Given the description of an element on the screen output the (x, y) to click on. 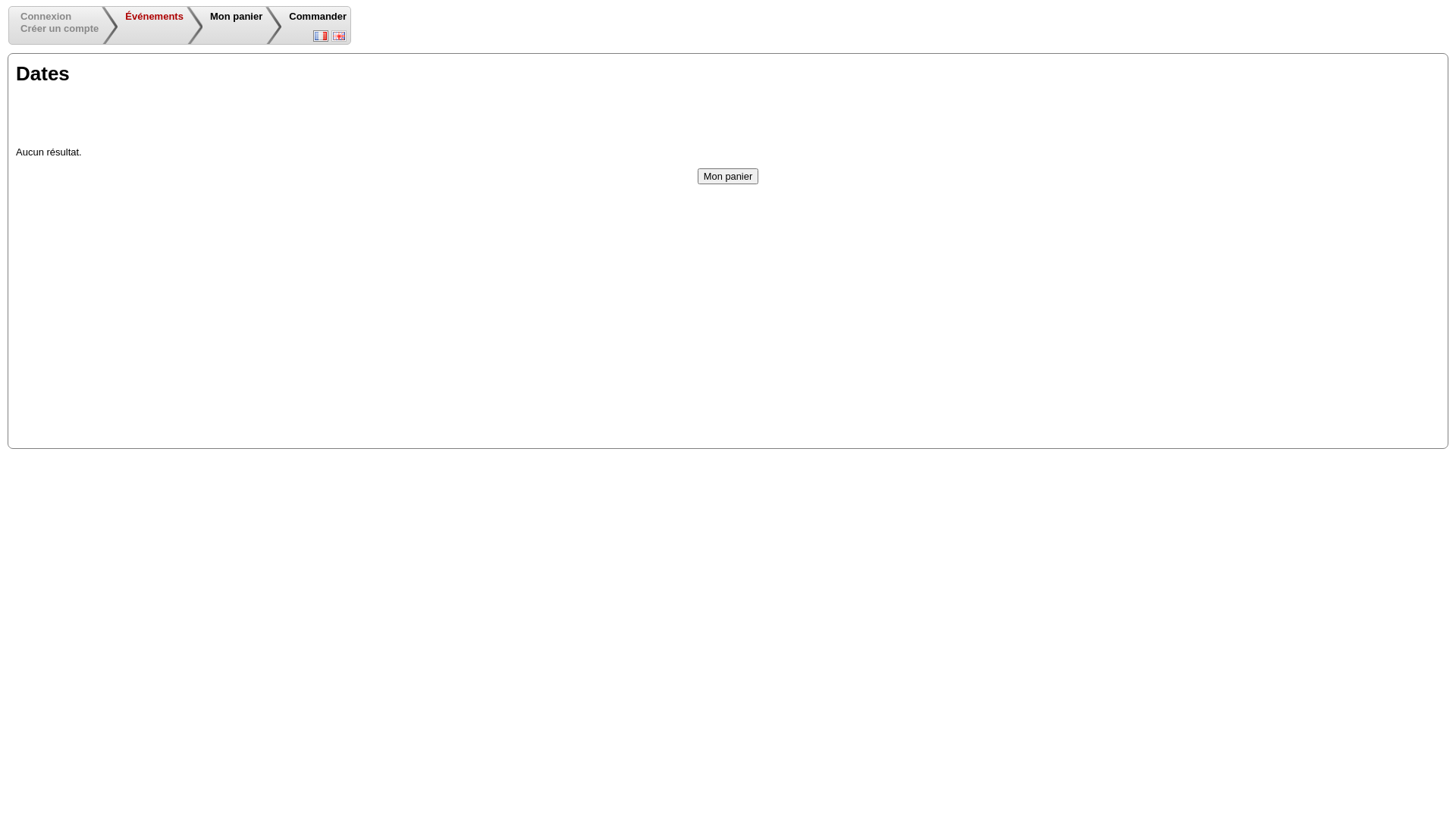
Connexion Element type: text (45, 16)
Mon panier Element type: text (236, 16)
English (beta) Element type: text (338, 35)
Mon panier Element type: text (727, 176)
Mon panier Element type: text (727, 176)
